Given the description of an element on the screen output the (x, y) to click on. 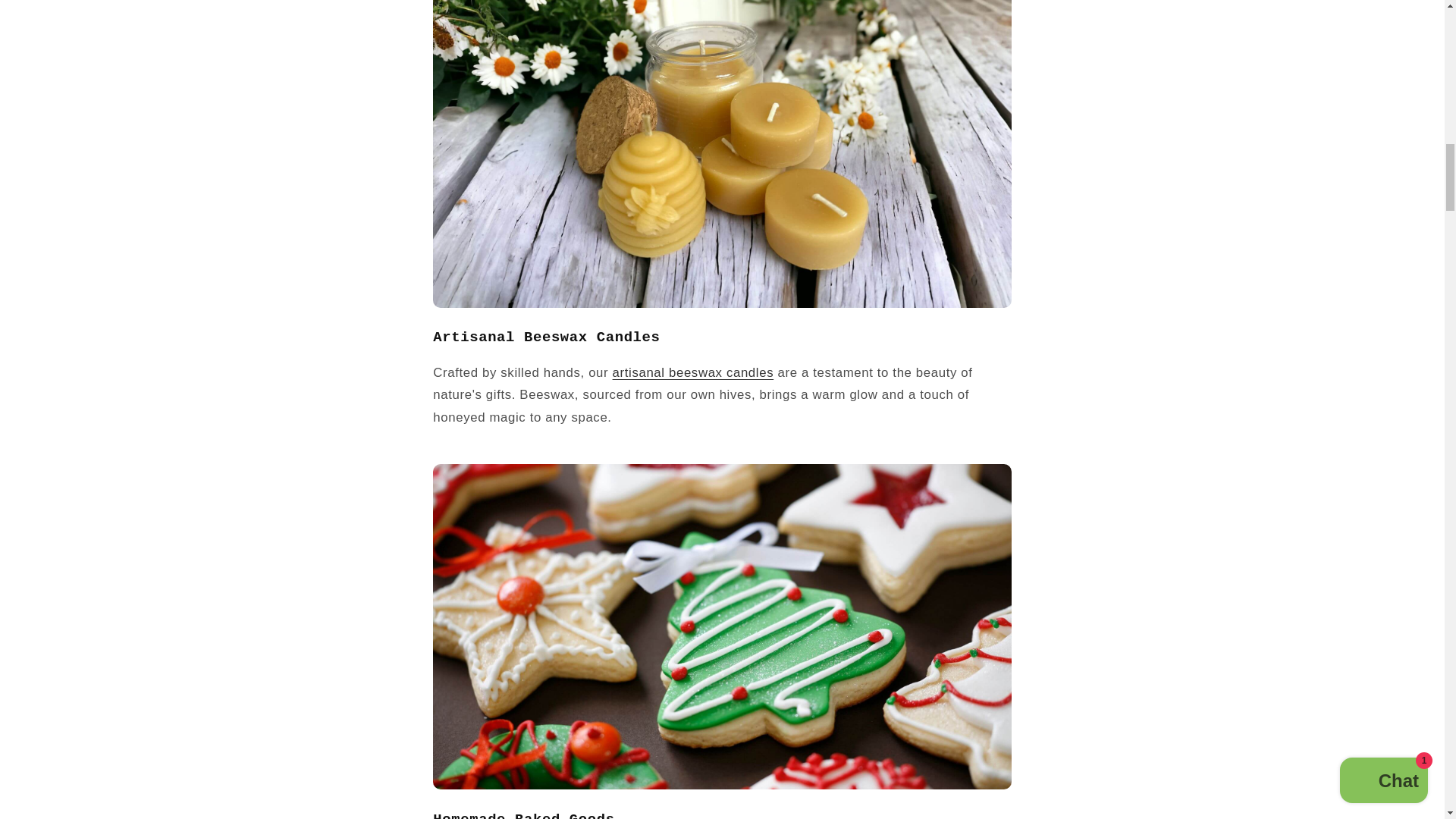
Collombatti Naturals Beeswax Candles (721, 305)
Collombatti Naturals Beeswax Candles (693, 372)
